Given the description of an element on the screen output the (x, y) to click on. 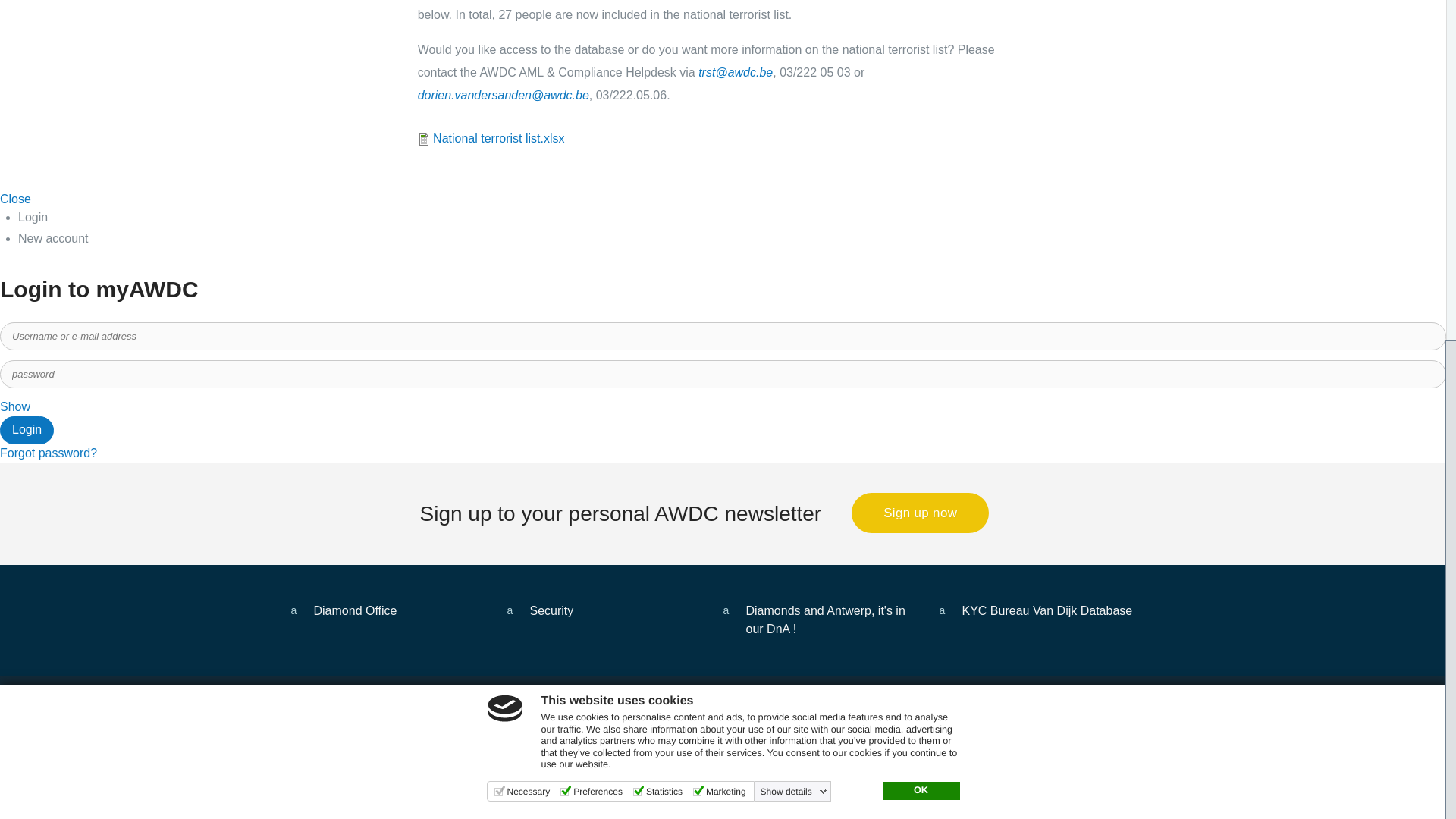
Show details (793, 205)
OK (920, 205)
Login (26, 430)
